Given the description of an element on the screen output the (x, y) to click on. 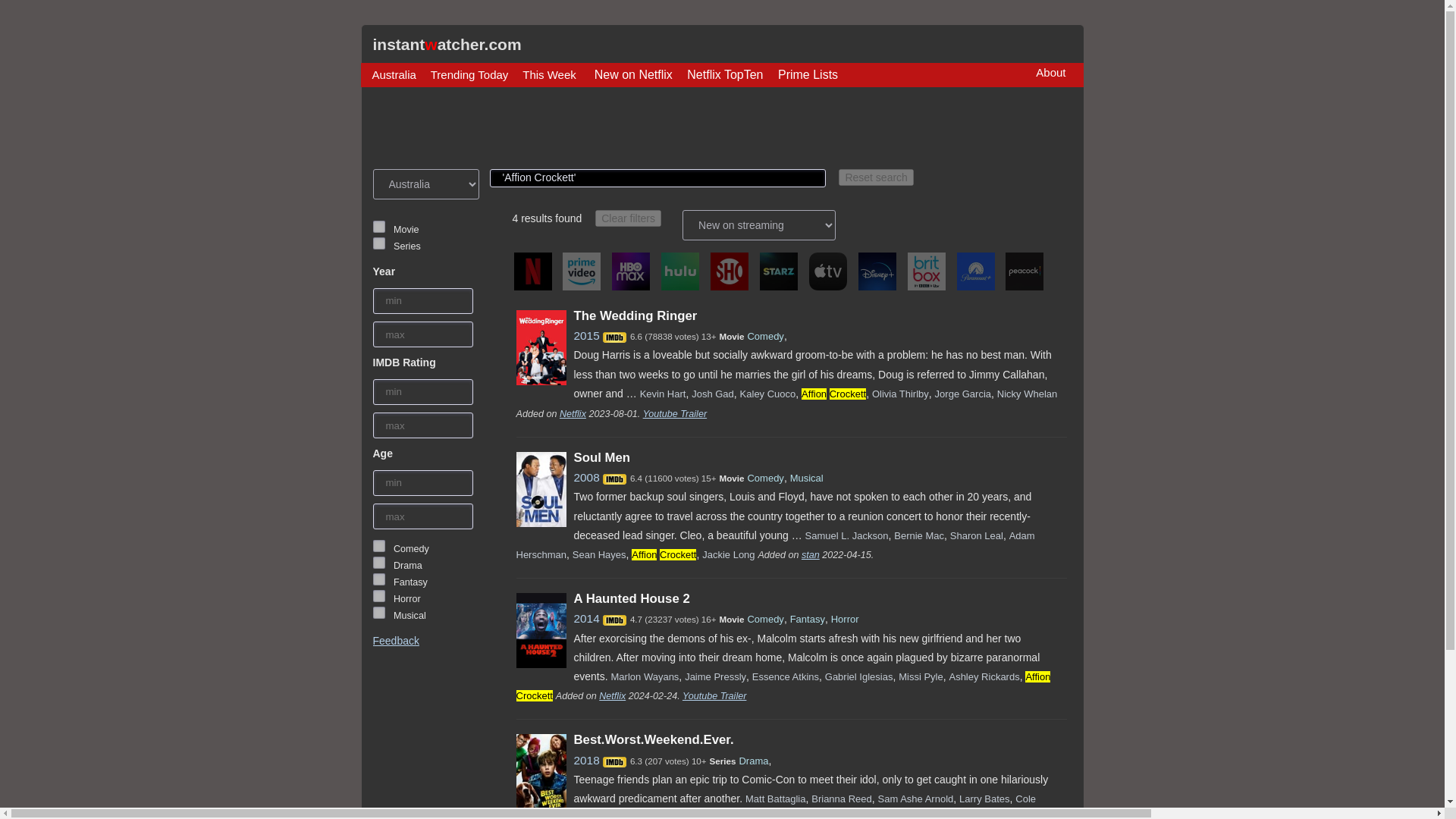
Olivia Thirlby (900, 393)
Feedback (395, 640)
Fantasy (378, 579)
Netflix TopTen (724, 74)
Comedy (764, 478)
Drama (378, 562)
instantwatcher.com (446, 43)
Musical (378, 612)
Soul Men (601, 457)
movie (378, 226)
